Given the description of an element on the screen output the (x, y) to click on. 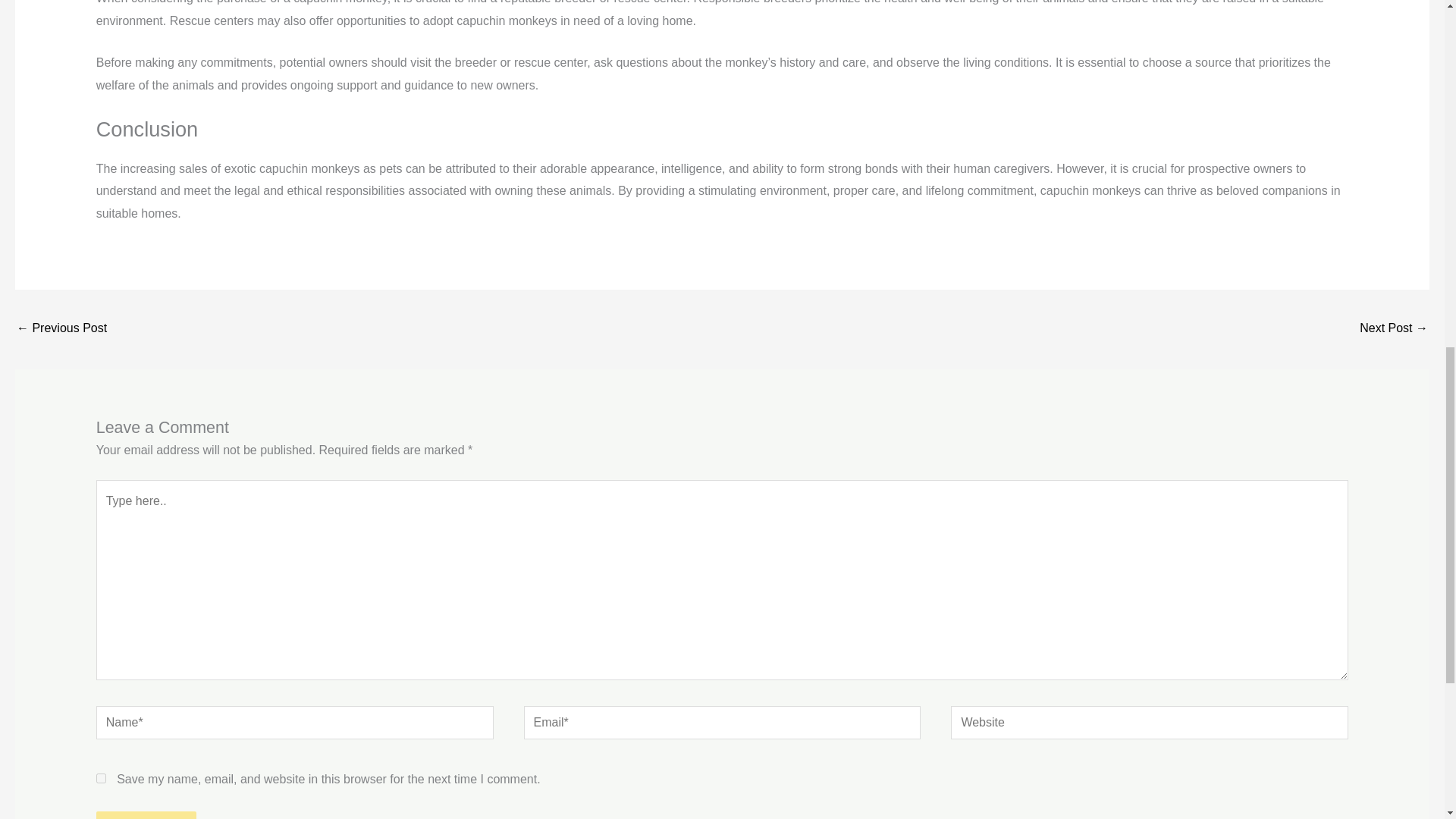
yes (101, 777)
The Surprising Rise in the Sales of Exotic Capuchin Monkeys (1393, 329)
The Rising Popularity of Exotic Capuchin Monkeys as Pets (61, 329)
